Given the description of an element on the screen output the (x, y) to click on. 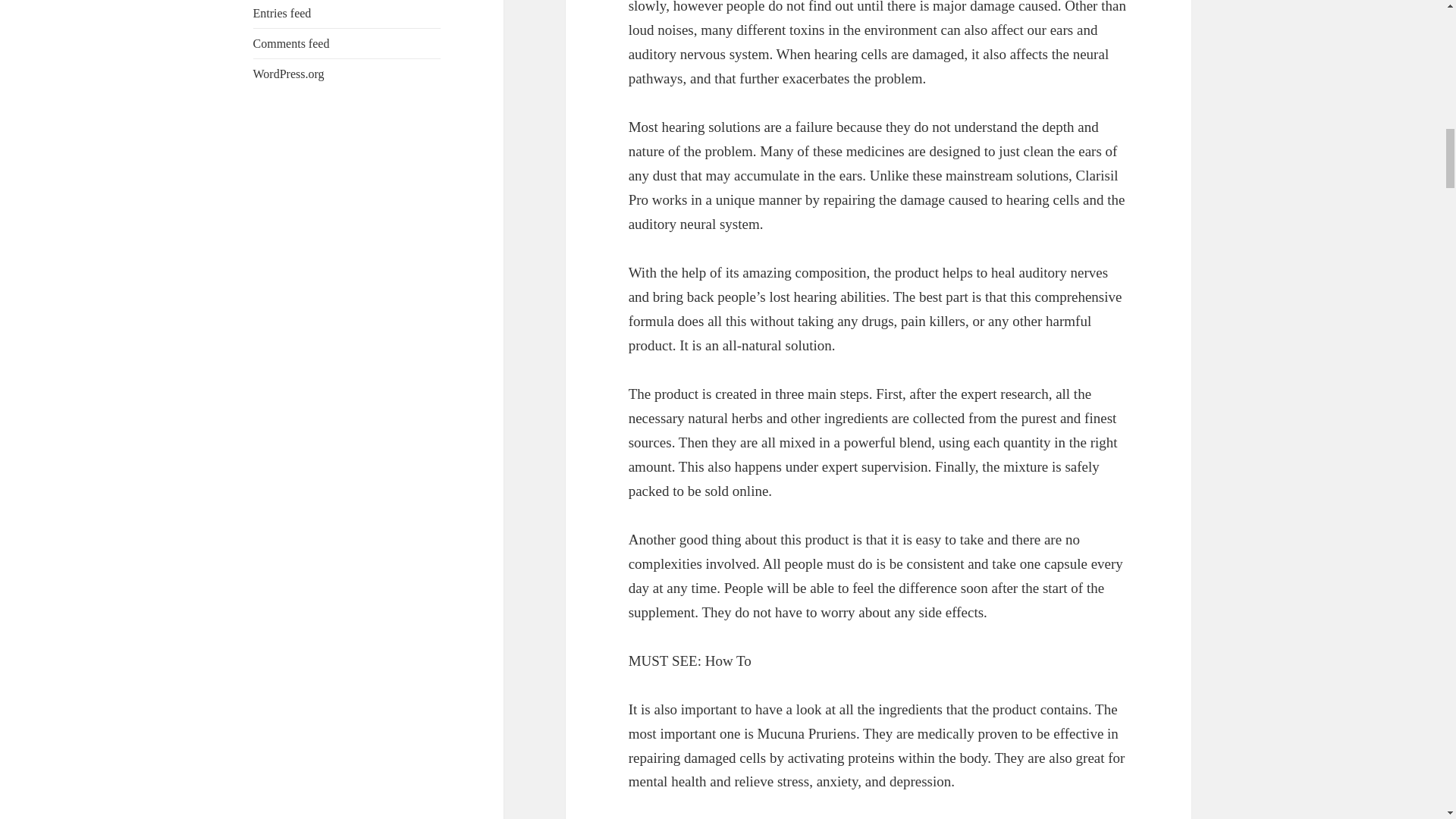
Comments feed (291, 42)
Entries feed (282, 12)
WordPress.org (288, 73)
